Given the description of an element on the screen output the (x, y) to click on. 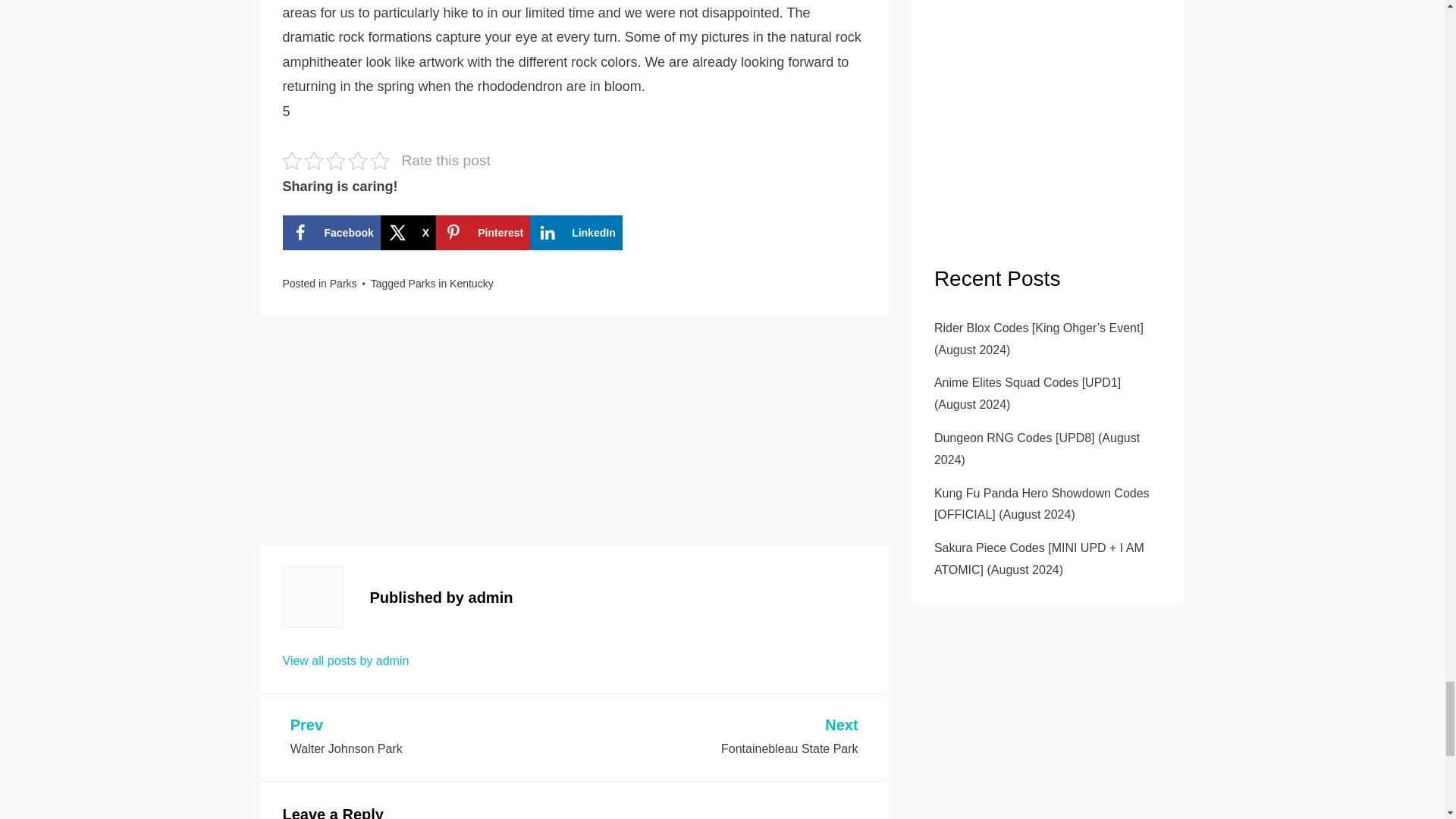
Share on Facebook (331, 232)
Parks in Kentucky (717, 737)
Share on X (451, 283)
Save to Pinterest (407, 232)
Facebook (482, 232)
Pinterest (429, 737)
LinkedIn (331, 232)
Share on LinkedIn (482, 232)
